Given the description of an element on the screen output the (x, y) to click on. 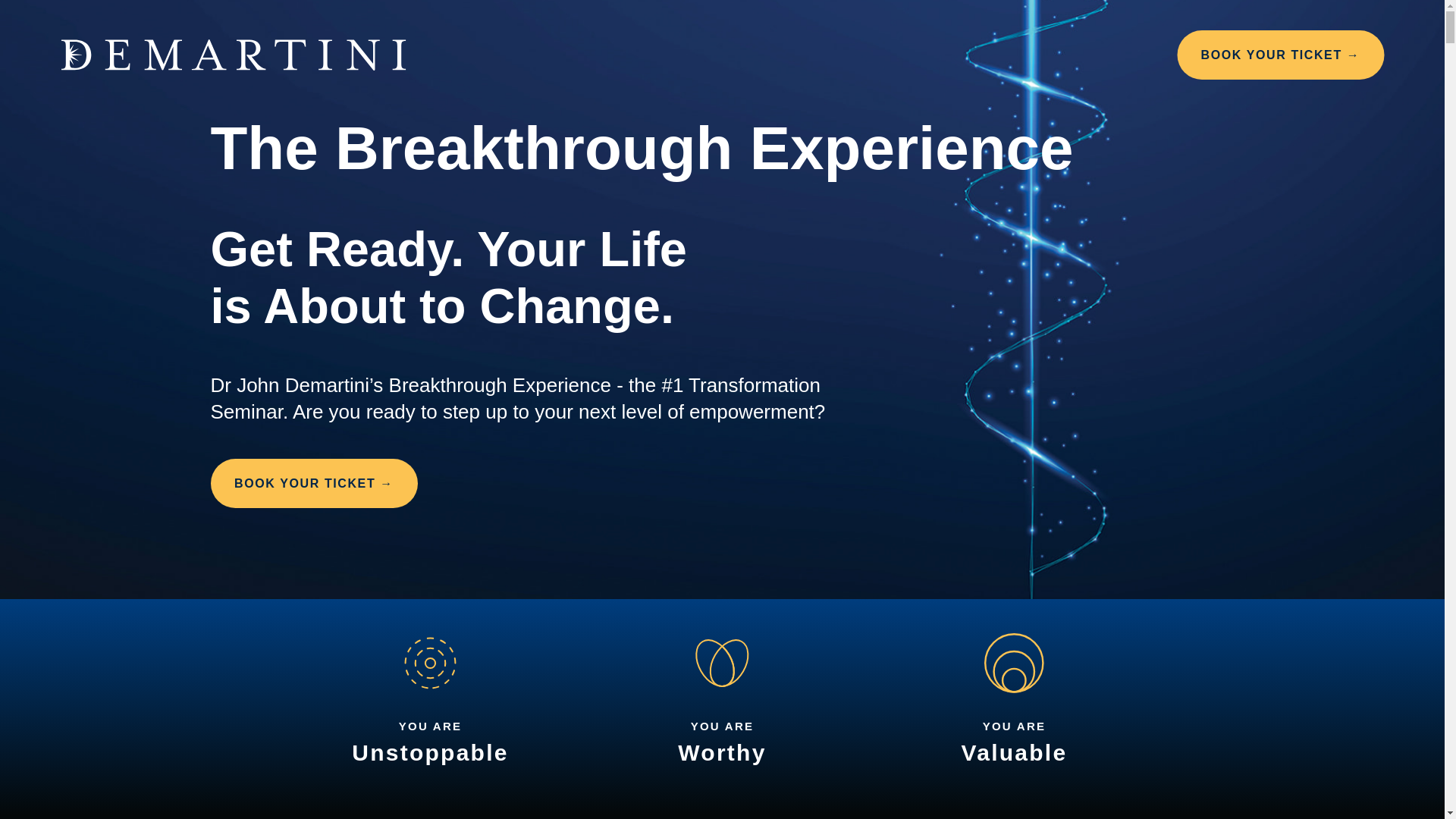
Visit Home Page (233, 54)
